Given the description of an element on the screen output the (x, y) to click on. 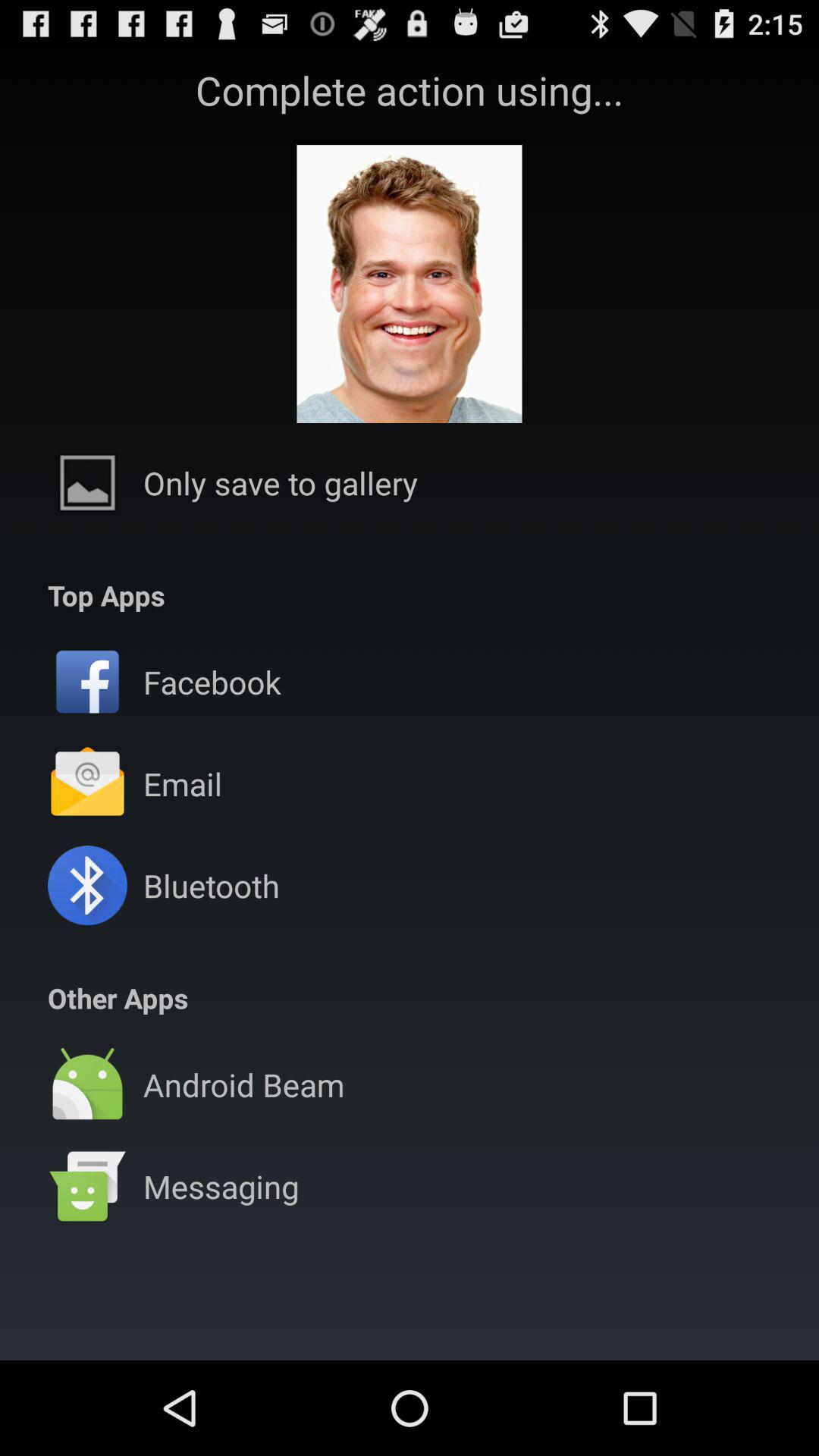
launch icon below the other apps item (409, 1033)
